Given the description of an element on the screen output the (x, y) to click on. 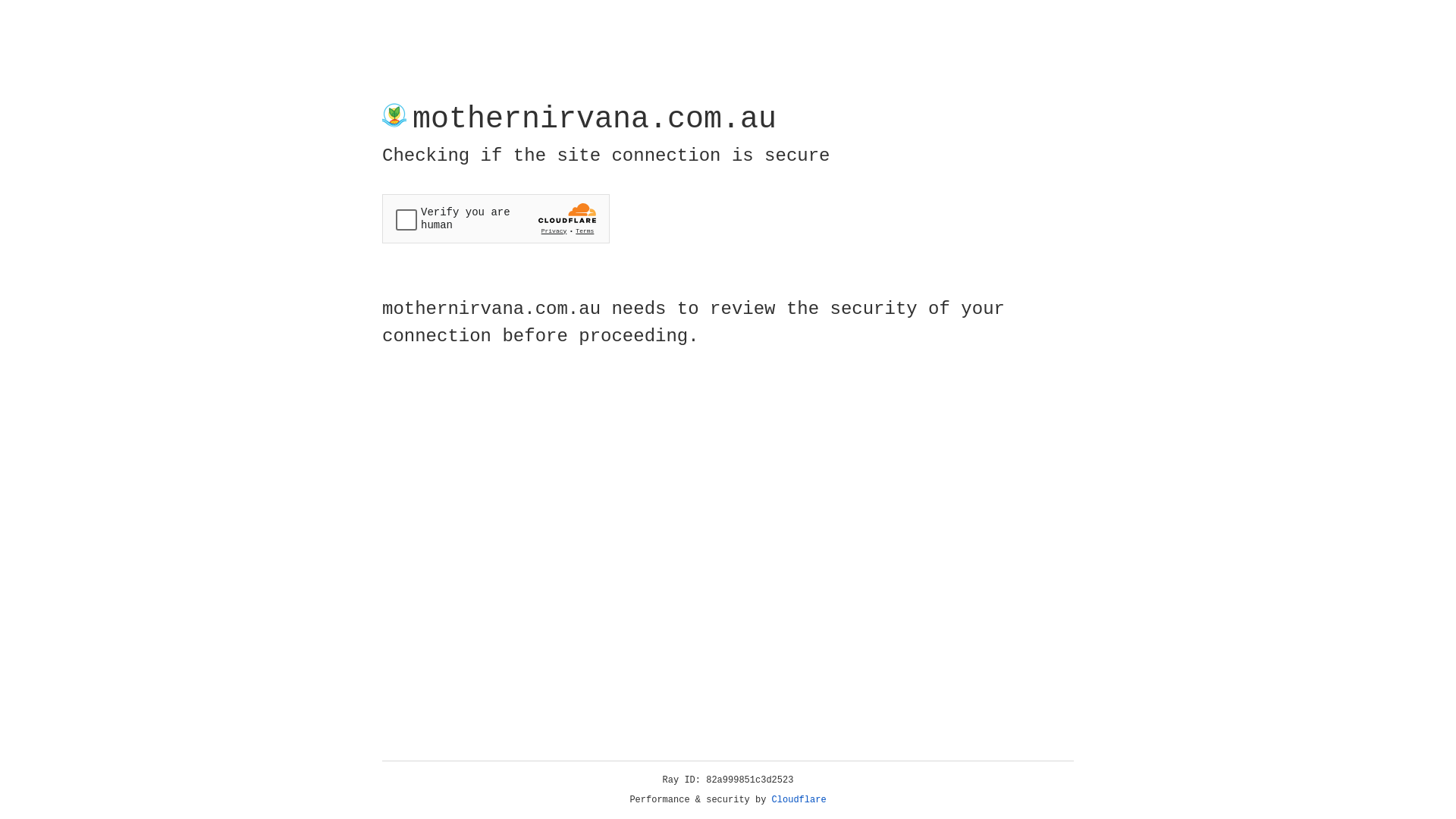
Cloudflare Element type: text (798, 799)
Widget containing a Cloudflare security challenge Element type: hover (495, 218)
